Given the description of an element on the screen output the (x, y) to click on. 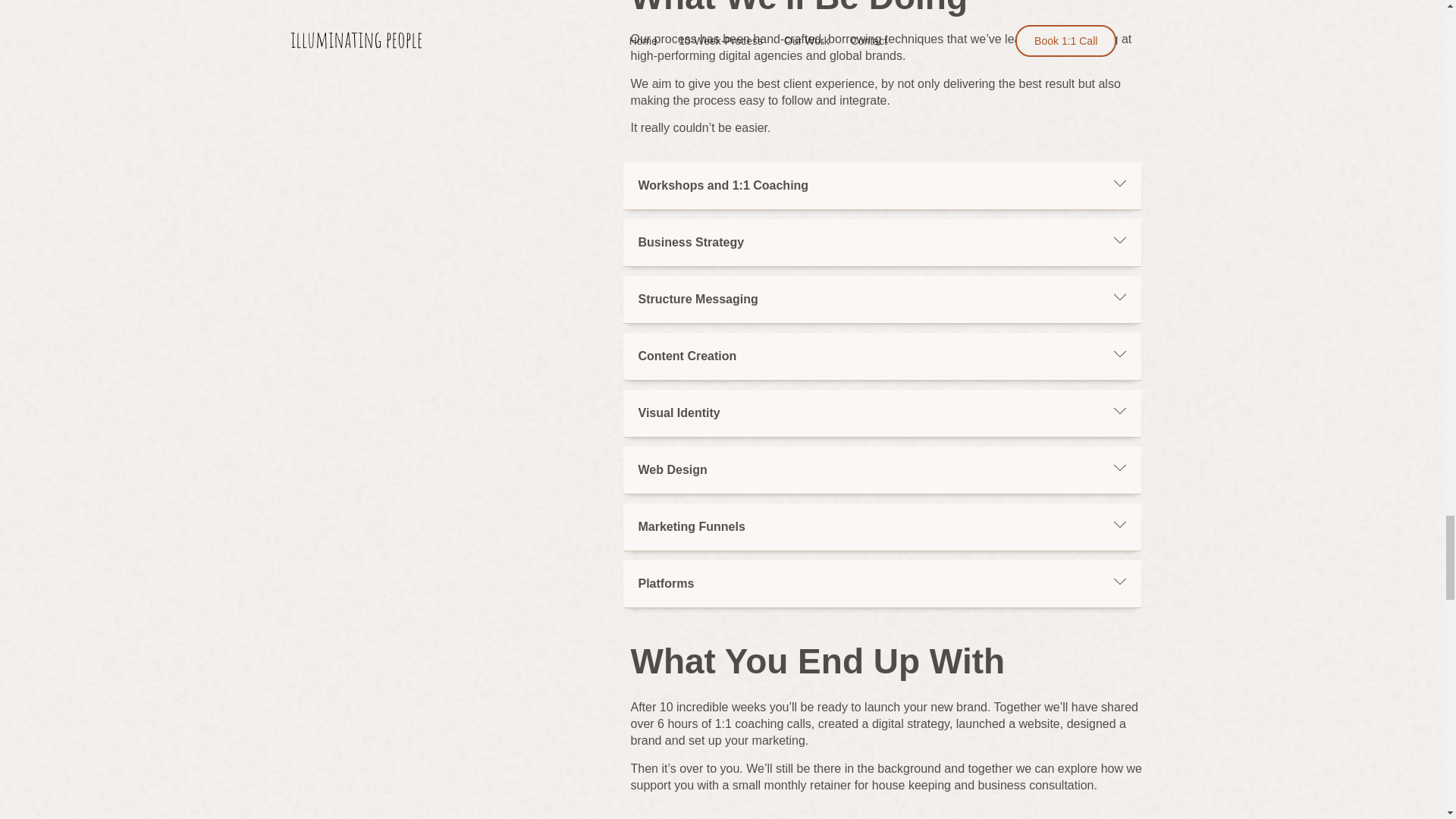
Web Design (673, 469)
Business Strategy (691, 241)
Marketing Funnels (692, 526)
Platforms (666, 583)
Visual Identity (679, 412)
Content Creation (687, 355)
Structure Messaging (698, 298)
Workshops and 1:1 Coaching (724, 185)
